Given the description of an element on the screen output the (x, y) to click on. 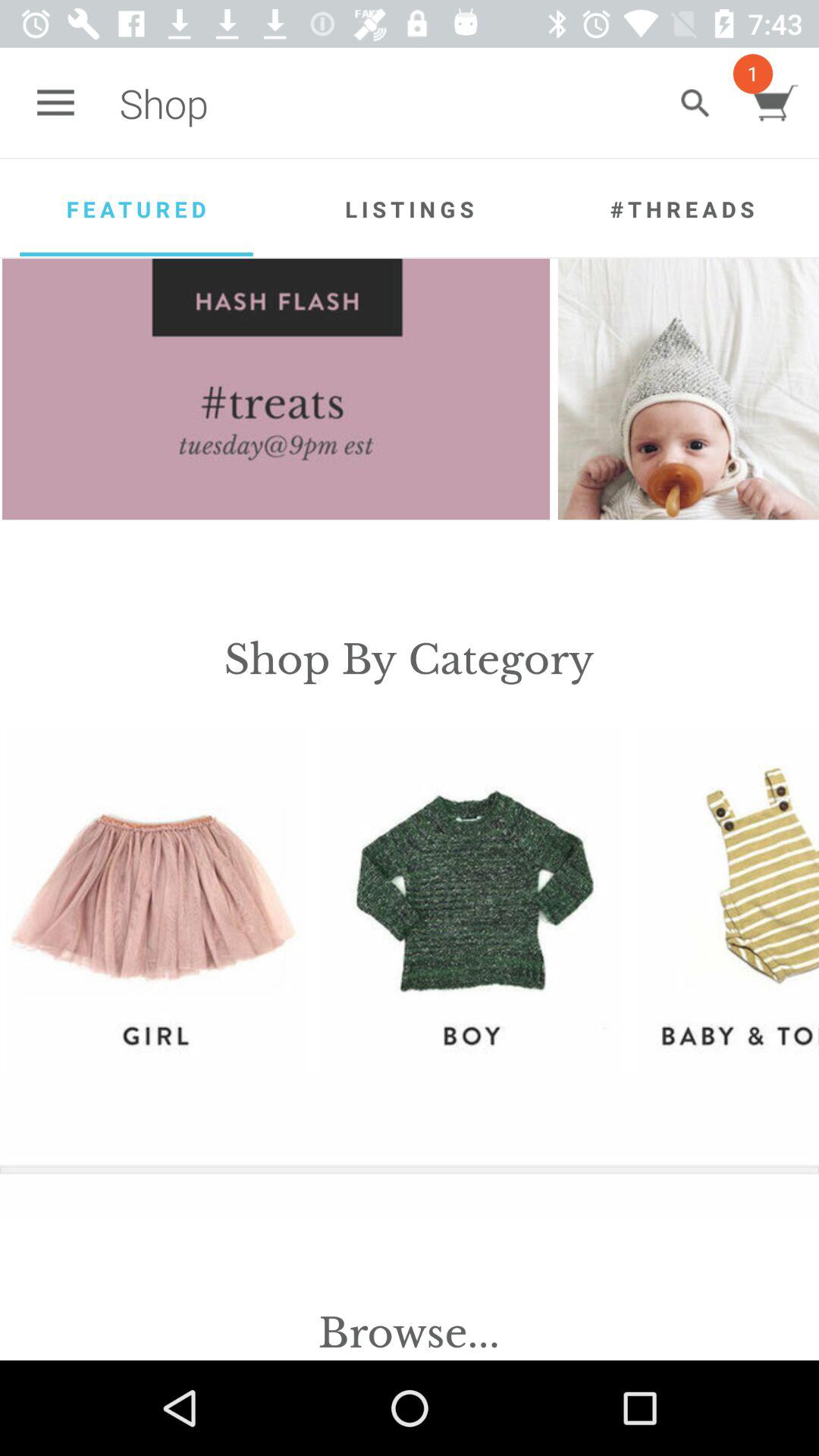
select the article (688, 388)
